Given the description of an element on the screen output the (x, y) to click on. 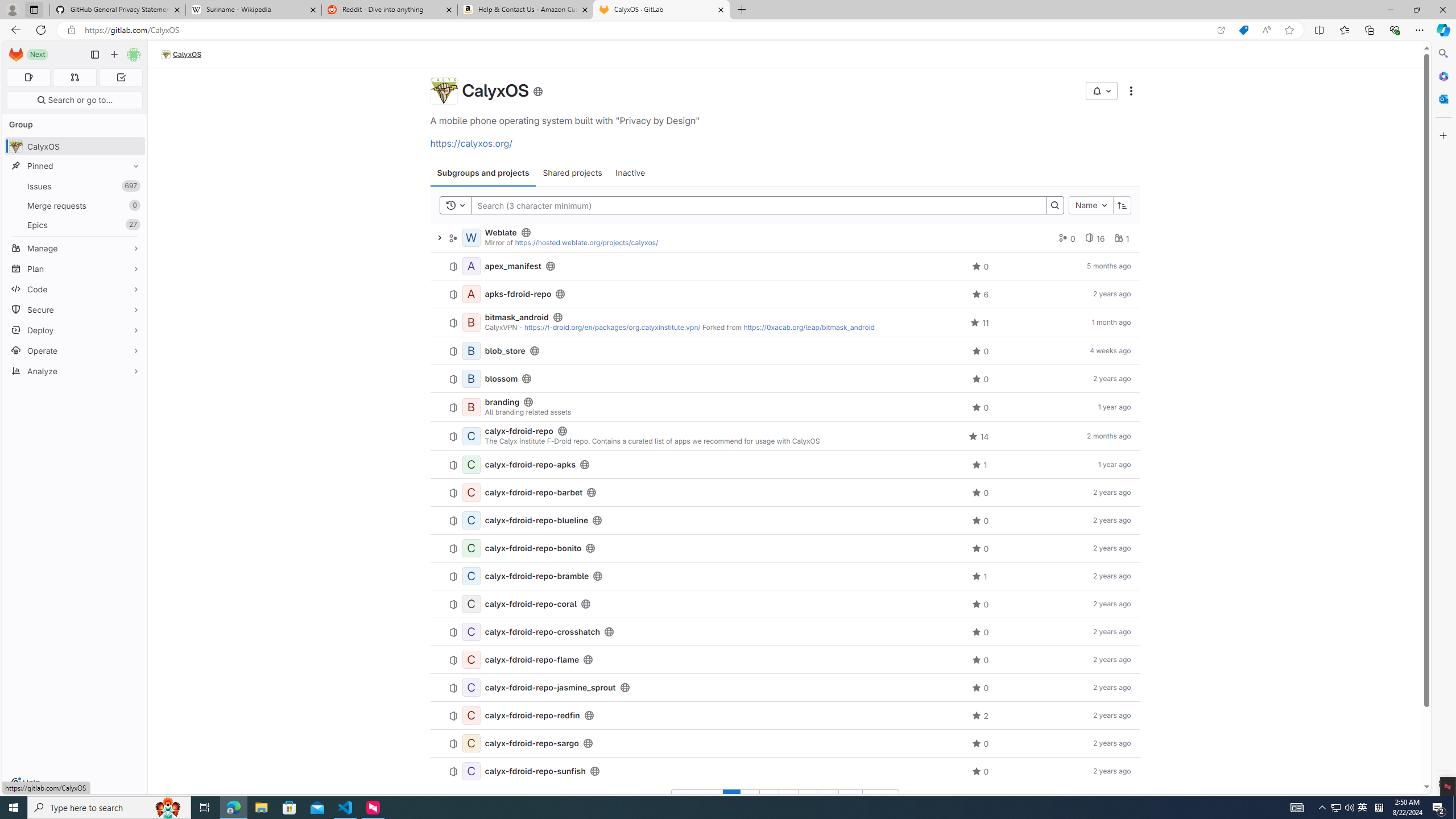
Sort direction: Ascending (1121, 205)
Operate (74, 350)
Toggle history (455, 205)
BbrandingAll branding related assets01 year ago (784, 407)
Ccalyx-fdroid-repo-blueline02 years ago (784, 520)
CalyxOS (181, 54)
Bblossom02 years ago (784, 379)
Open in app (1220, 29)
